Given the description of an element on the screen output the (x, y) to click on. 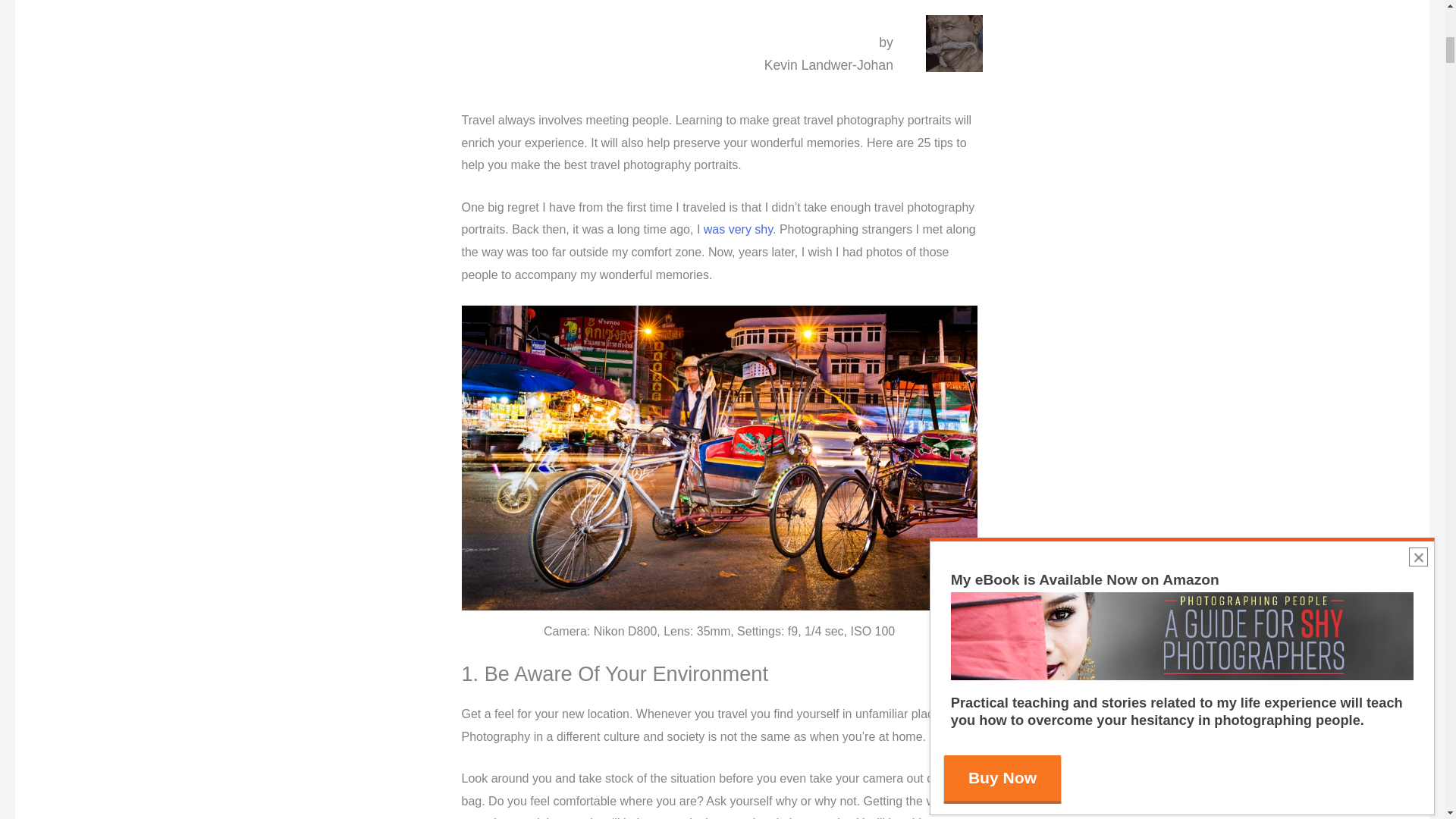
was very shy (738, 228)
